Given the description of an element on the screen output the (x, y) to click on. 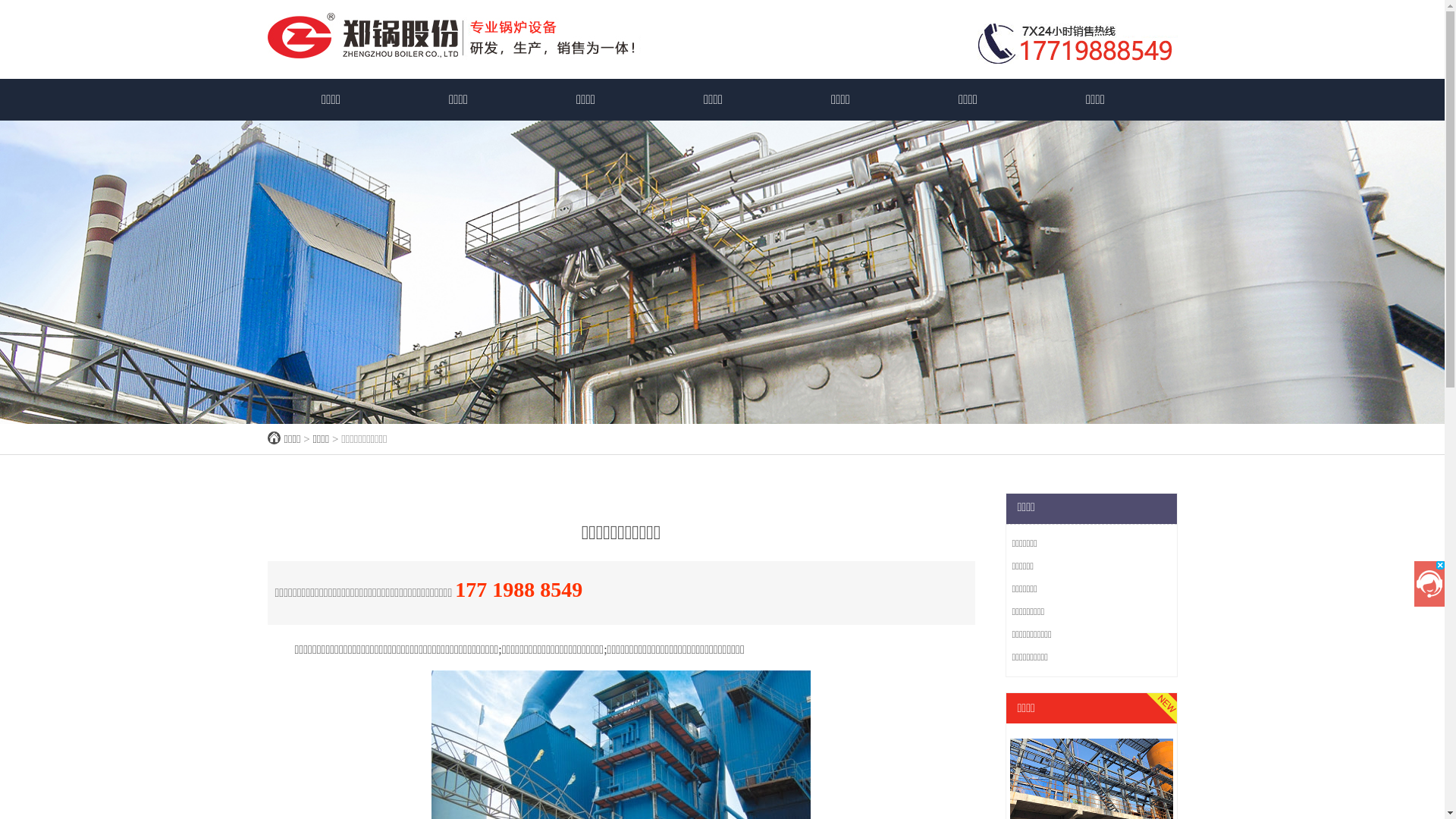
177 1988 8549 Element type: text (518, 589)
